Given the description of an element on the screen output the (x, y) to click on. 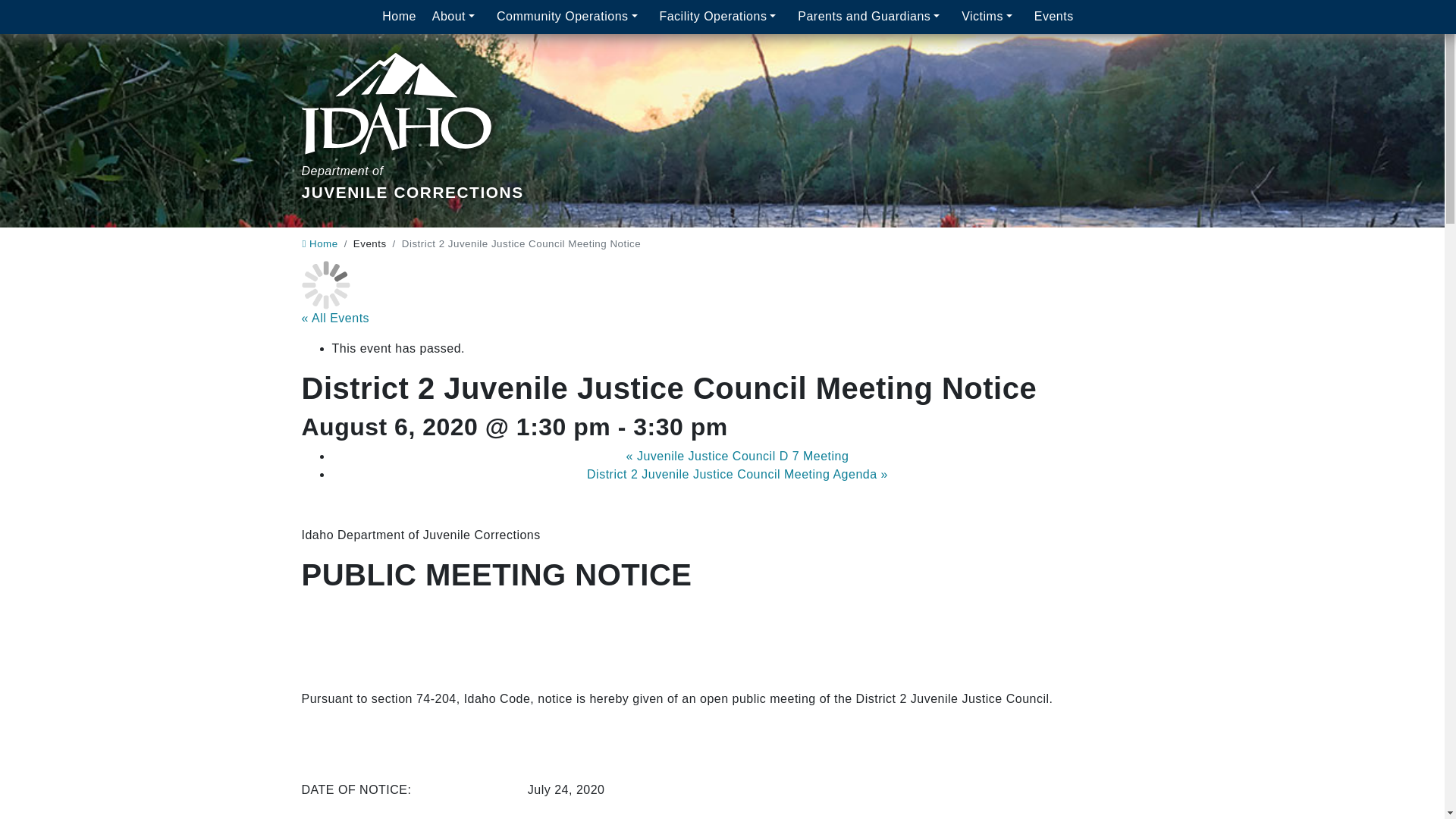
Community Operations (569, 16)
Events (1053, 16)
Facility Operations (720, 16)
Parents and Guardians (871, 16)
Home (412, 109)
Community Operations (319, 243)
About (569, 16)
Home (455, 16)
About (398, 16)
